Given the description of an element on the screen output the (x, y) to click on. 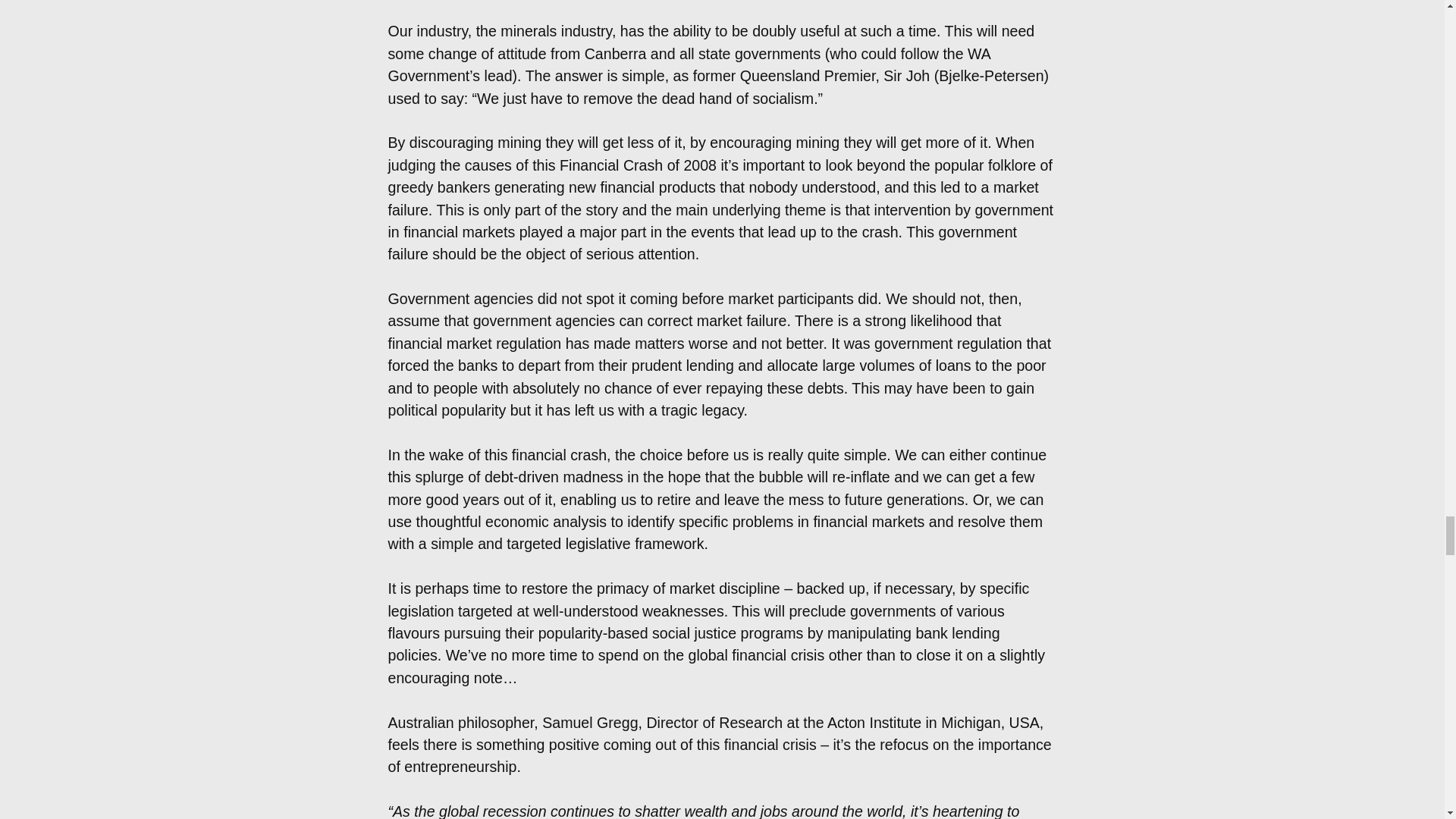
Page 13 (722, 765)
